Given the description of an element on the screen output the (x, y) to click on. 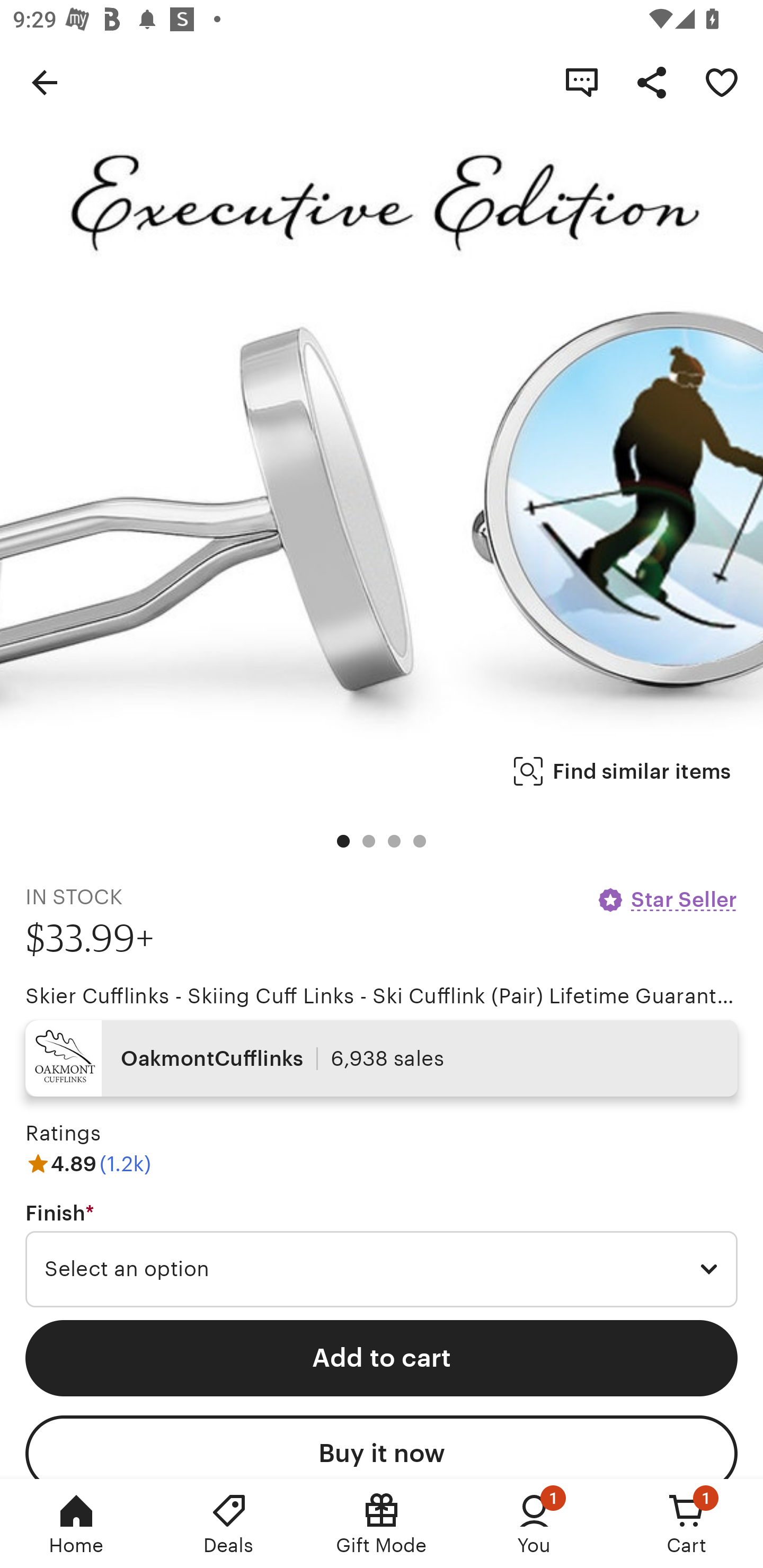
Navigate up (44, 81)
Contact shop (581, 81)
Share (651, 81)
Find similar items (622, 771)
Star Seller (666, 899)
OakmontCufflinks 6,938 sales (381, 1058)
Ratings (62, 1133)
4.89 (1.2k) (88, 1163)
Finish * Required Select an option (381, 1254)
Select an option (381, 1268)
Add to cart (381, 1358)
Buy it now (381, 1446)
Deals (228, 1523)
Gift Mode (381, 1523)
You, 1 new notification You (533, 1523)
Cart, 1 new notification Cart (686, 1523)
